Given the description of an element on the screen output the (x, y) to click on. 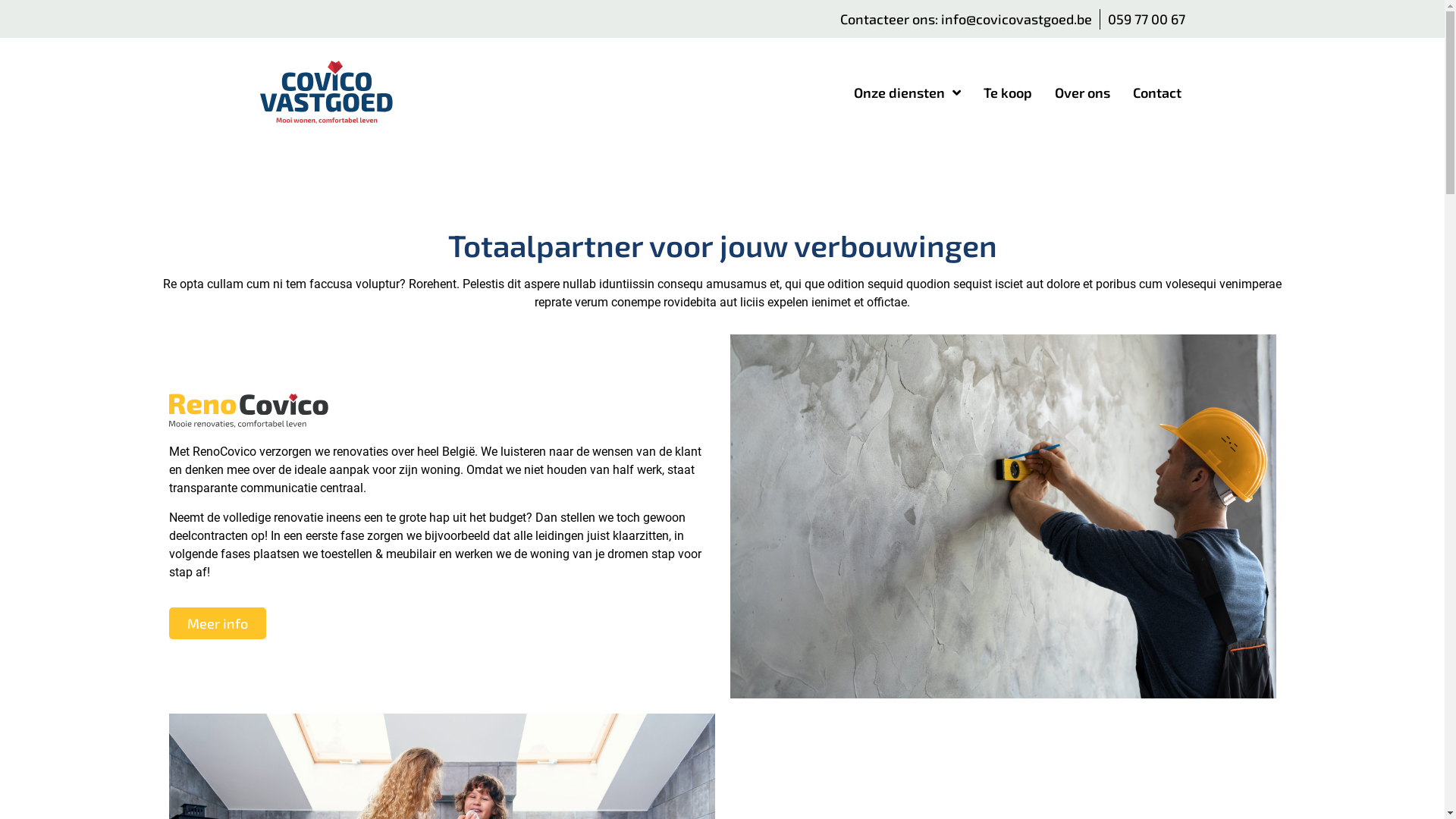
Contacteer ons: info@covicovastgoed.be Element type: text (966, 19)
059 77 00 67 Element type: text (1145, 19)
Over ons Element type: text (1082, 92)
Meer info Element type: text (216, 623)
Onze diensten Element type: text (906, 92)
Contact Element type: text (1156, 92)
Te koop Element type: text (1007, 92)
